Given the description of an element on the screen output the (x, y) to click on. 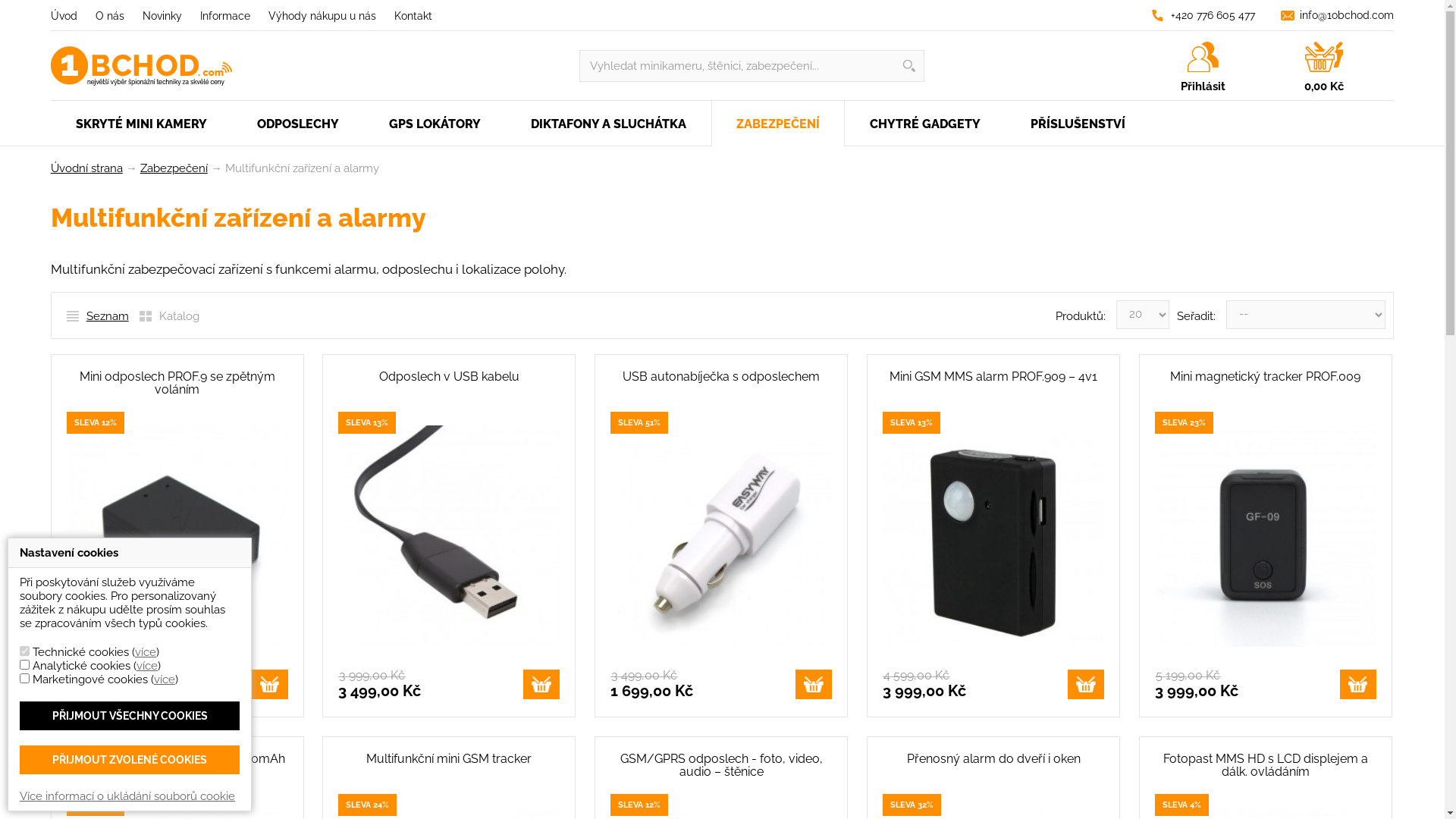
1obchod.com Element type: text (140, 56)
Koupit Element type: hover (813, 684)
Koupit Element type: hover (269, 684)
Kontakt Element type: text (413, 15)
OK Element type: text (16, 14)
info@1obchod.com Element type: text (1346, 15)
ODPOSLECHY Element type: text (298, 123)
Odposlech v USB kabelu Element type: text (448, 376)
Odposlech v USB kabelu Element type: hover (448, 535)
Seznam Element type: text (97, 316)
Novinky Element type: text (162, 15)
Koupit Element type: hover (1357, 684)
Koupit Element type: hover (1085, 684)
Informace Element type: text (225, 15)
Koupit Element type: hover (541, 684)
